Given the description of an element on the screen output the (x, y) to click on. 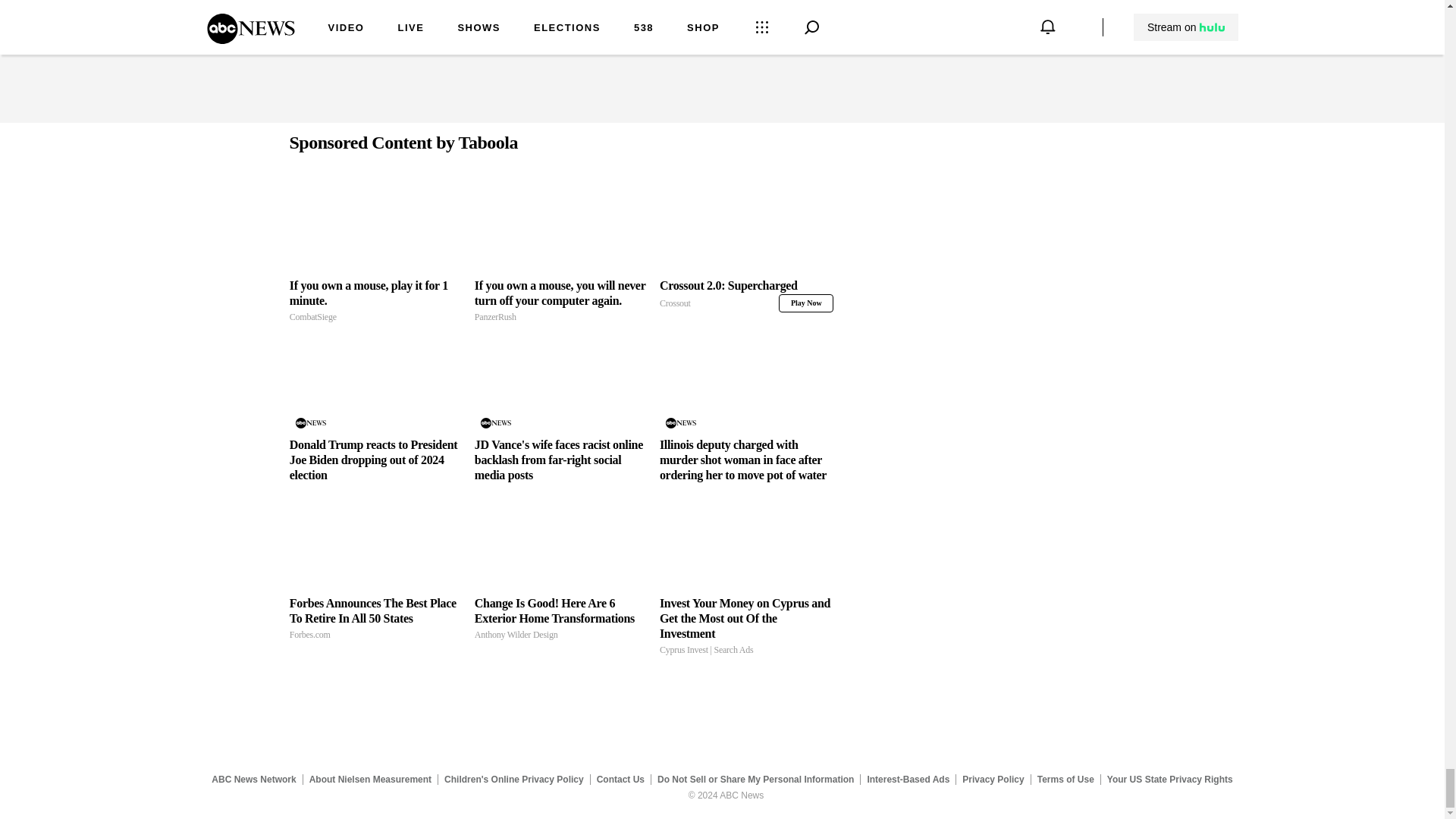
Change Is Good! Here Are 6 Exterior Home Transformations (560, 543)
Crossout 2.0: Supercharged (745, 295)
Play Now (805, 303)
Forbes Announces The Best Place To Retire In All 50 States (376, 543)
Crossout 2.0: Supercharged (745, 295)
